Given the description of an element on the screen output the (x, y) to click on. 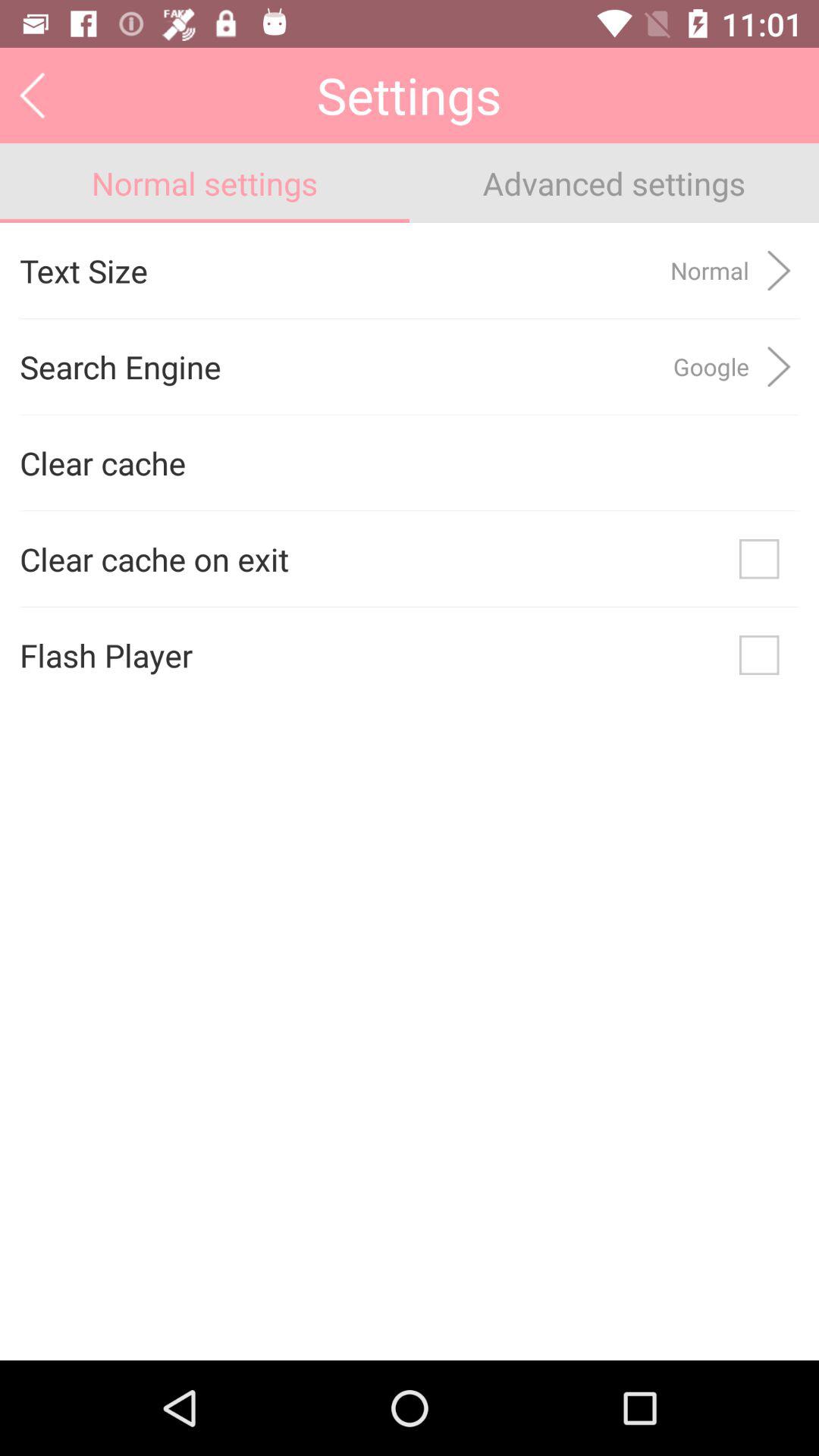
select the icon next to settings app (31, 95)
